Given the description of an element on the screen output the (x, y) to click on. 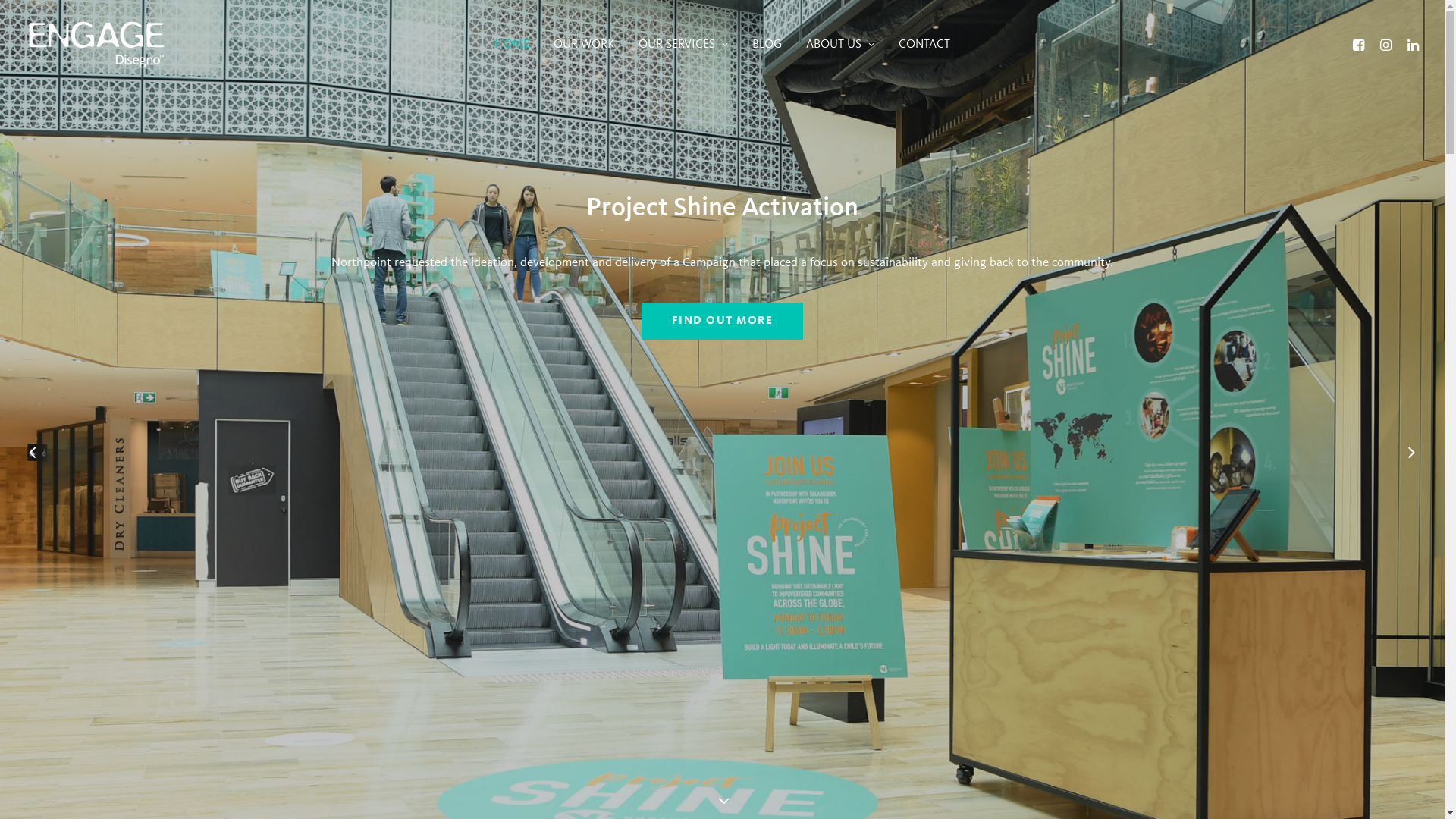
CONTACT Element type: text (924, 44)
FIND OUT MORE Element type: text (722, 320)
ABOUT US Element type: text (839, 44)
HOME Element type: text (511, 44)
OUR SERVICES Element type: text (682, 44)
OUR WORK Element type: text (583, 44)
BLOG Element type: text (766, 44)
